Given the description of an element on the screen output the (x, y) to click on. 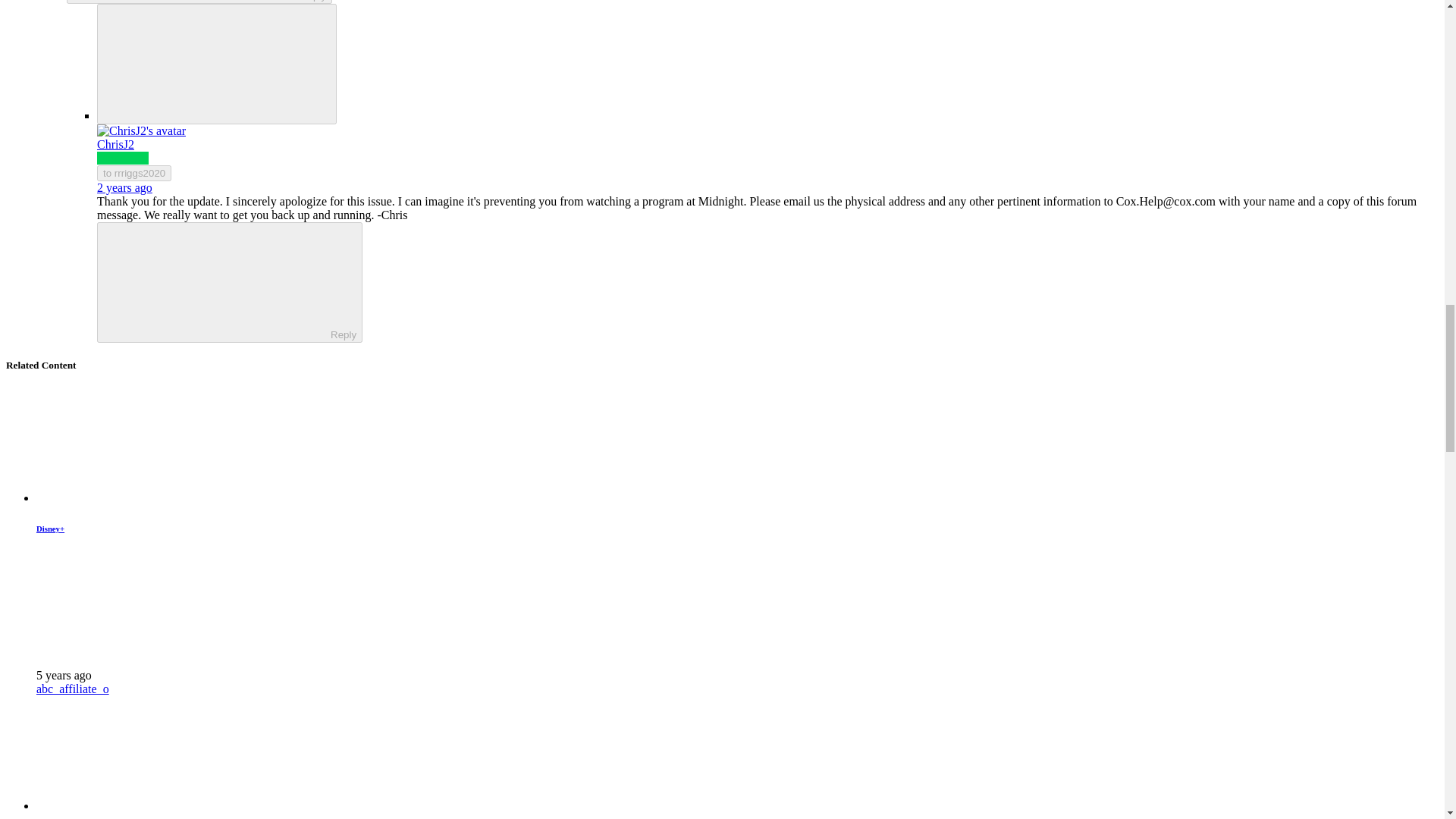
ChrisJ2 (115, 144)
ReplyReply (229, 282)
2 years ago (124, 187)
July 2, 2020 at 6:38 PM (63, 675)
to rrriggs2020 (134, 172)
Reply (216, 281)
March 7, 2023 at 4:16 PM (124, 187)
ReplyReply (198, 2)
